Given the description of an element on the screen output the (x, y) to click on. 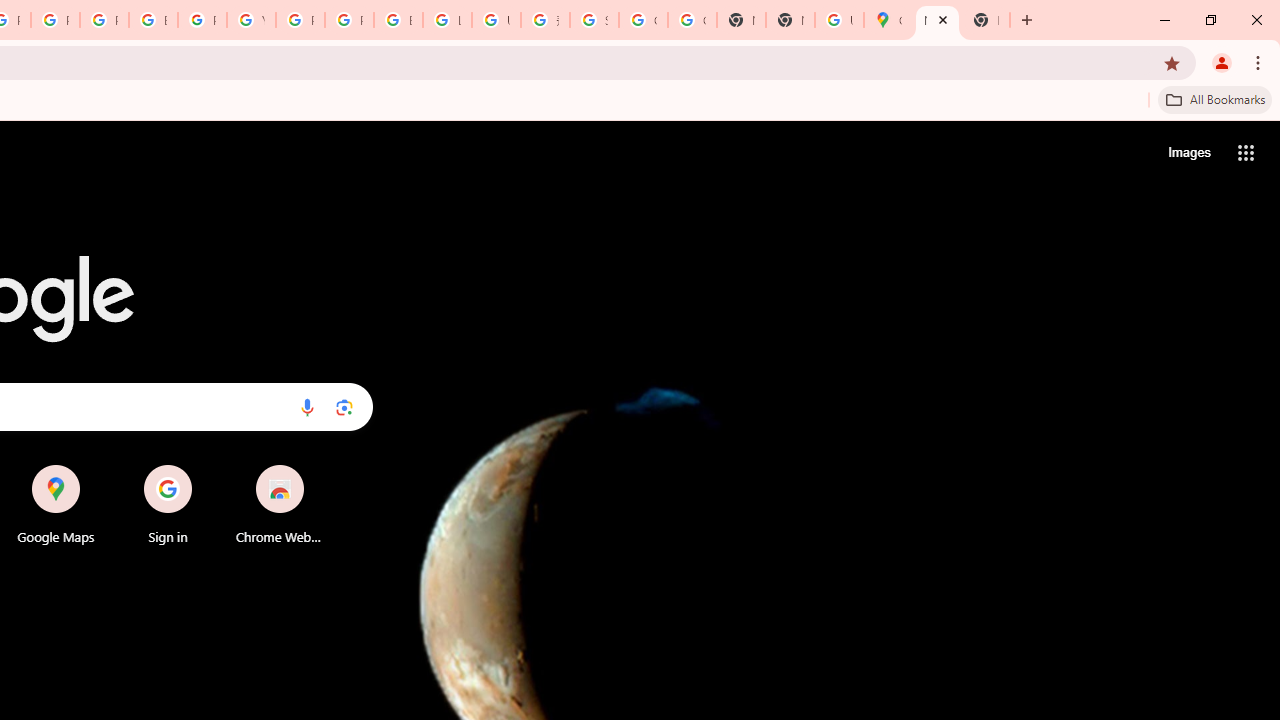
YouTube (251, 20)
Privacy Help Center - Policies Help (55, 20)
